Given the description of an element on the screen output the (x, y) to click on. 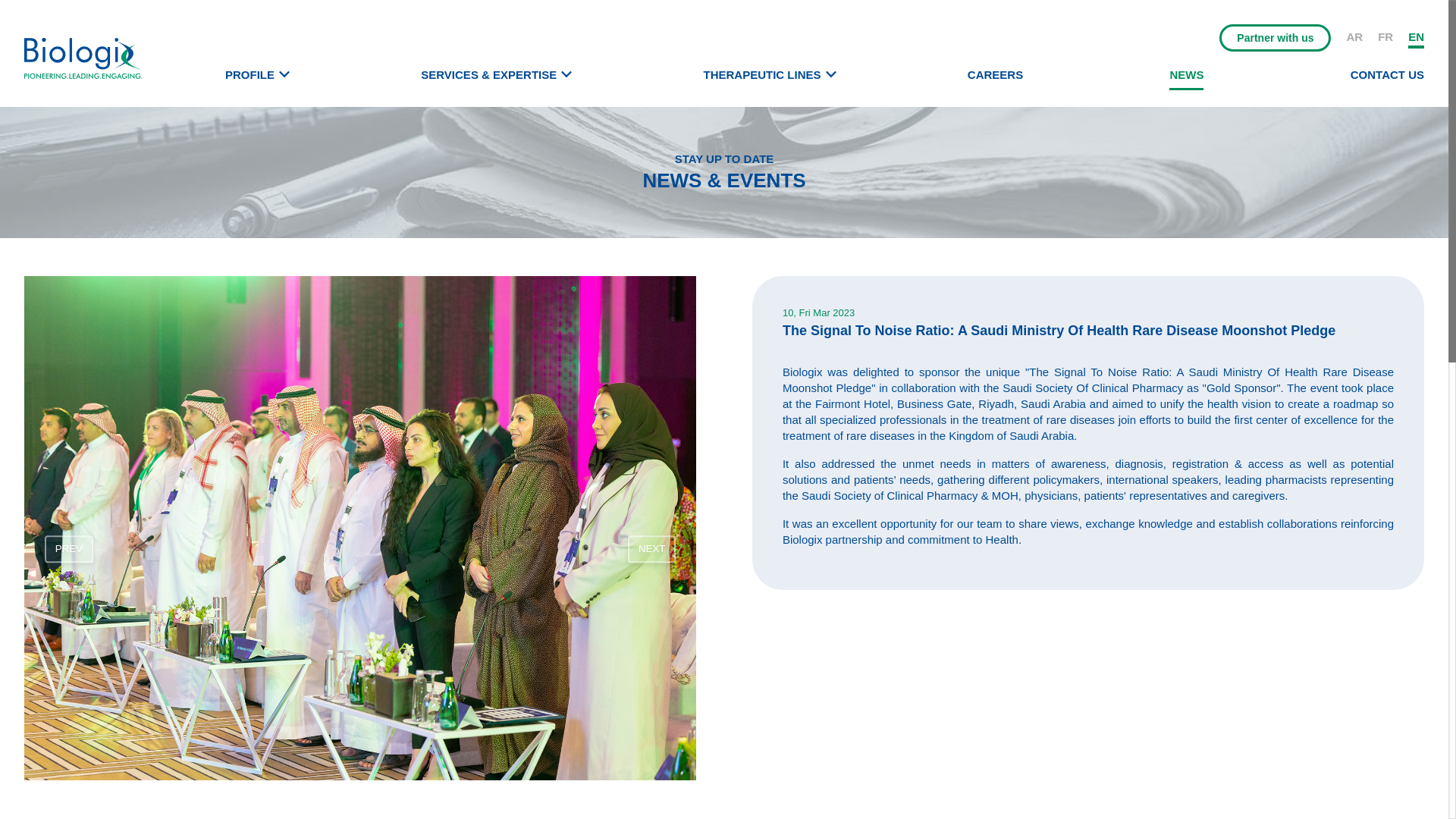
NEXT (652, 549)
CONTACT US (1387, 74)
AR (1353, 38)
EN (1415, 38)
THERAPEUTIC LINES (762, 74)
CAREERS (995, 74)
PREV (69, 549)
PROFILE (250, 74)
Partner with us (1275, 37)
